Given the description of an element on the screen output the (x, y) to click on. 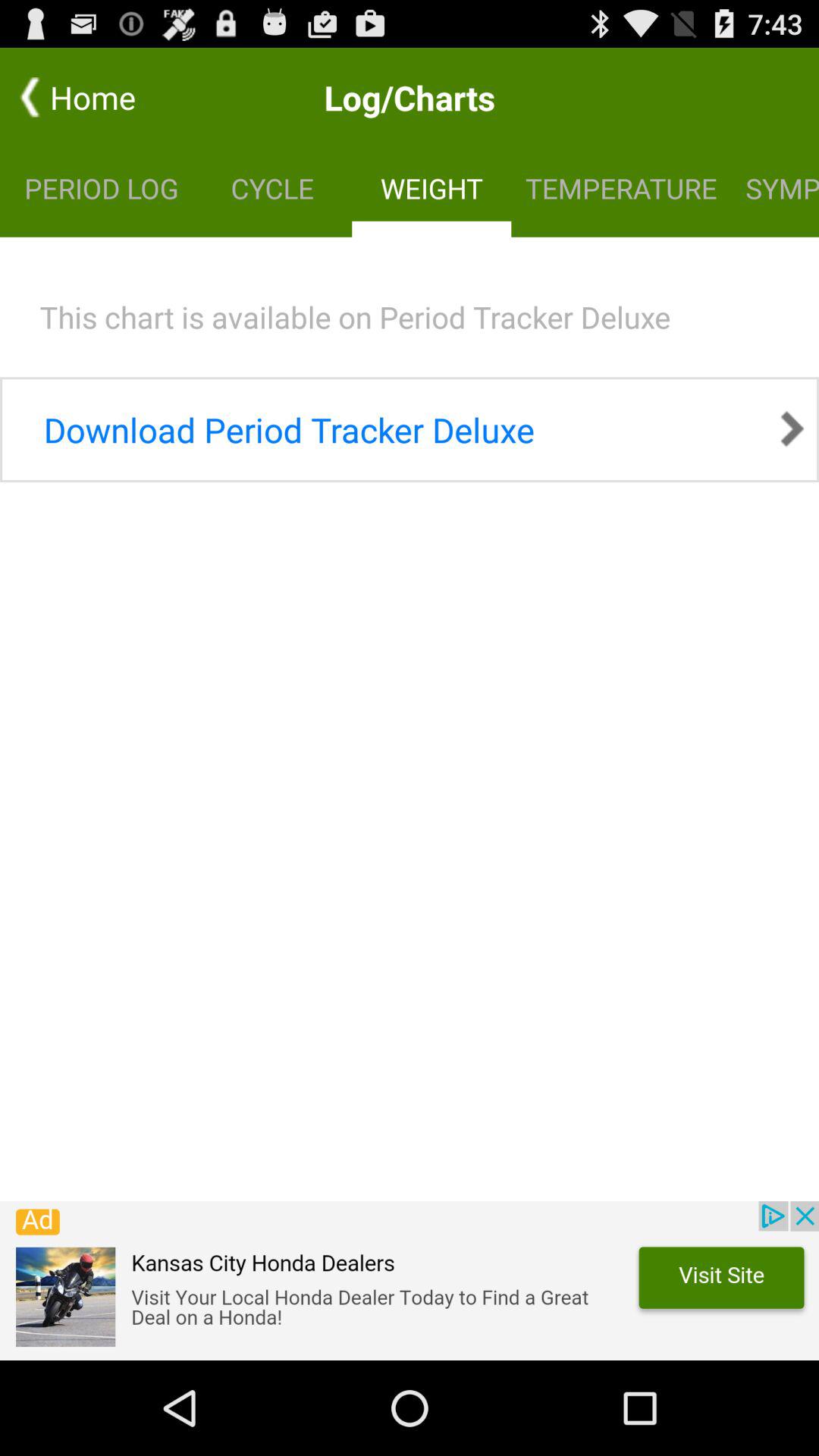
opens a advertisement (409, 1280)
